Given the description of an element on the screen output the (x, y) to click on. 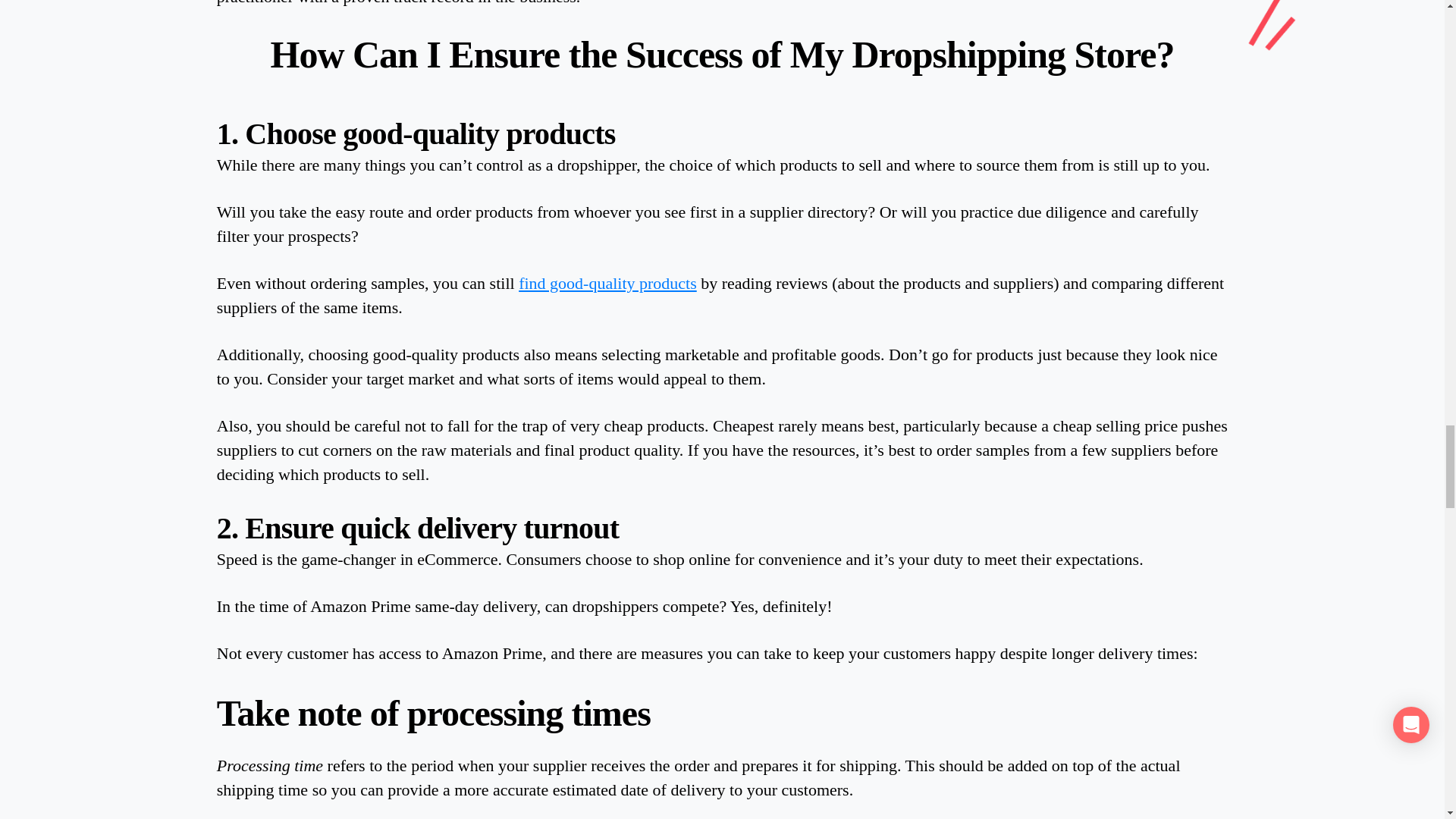
find good-quality products (607, 282)
